Given the description of an element on the screen output the (x, y) to click on. 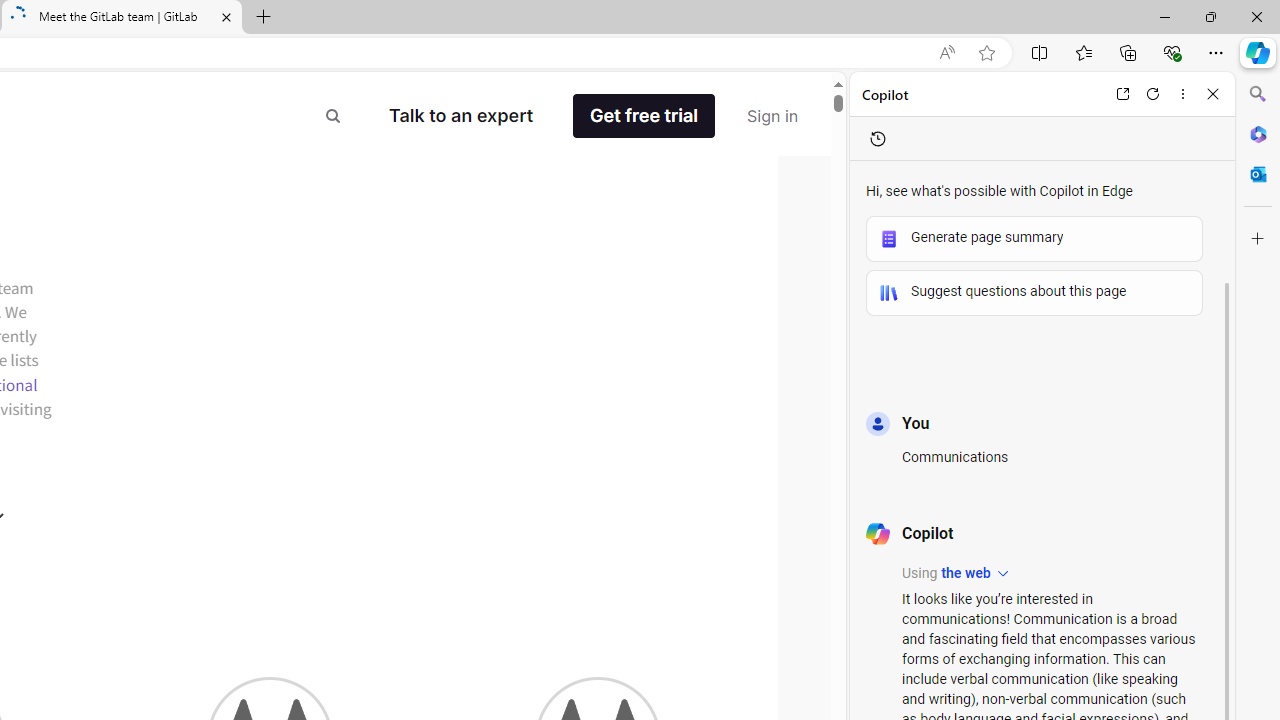
Talk to an expert (475, 115)
